Given the description of an element on the screen output the (x, y) to click on. 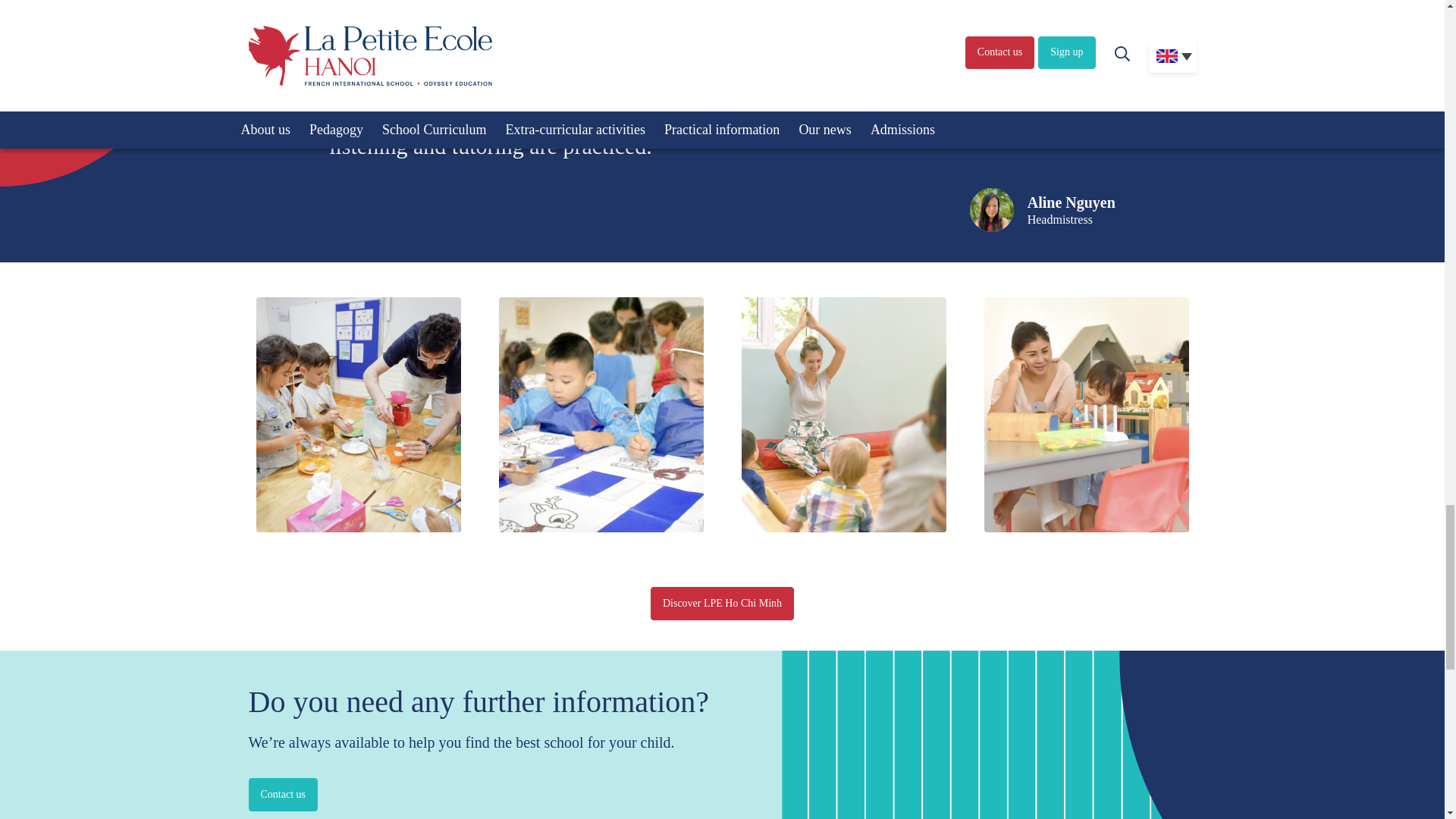
Discover LPE Ho Chi Minh (721, 603)
Contact us (283, 794)
